Given the description of an element on the screen output the (x, y) to click on. 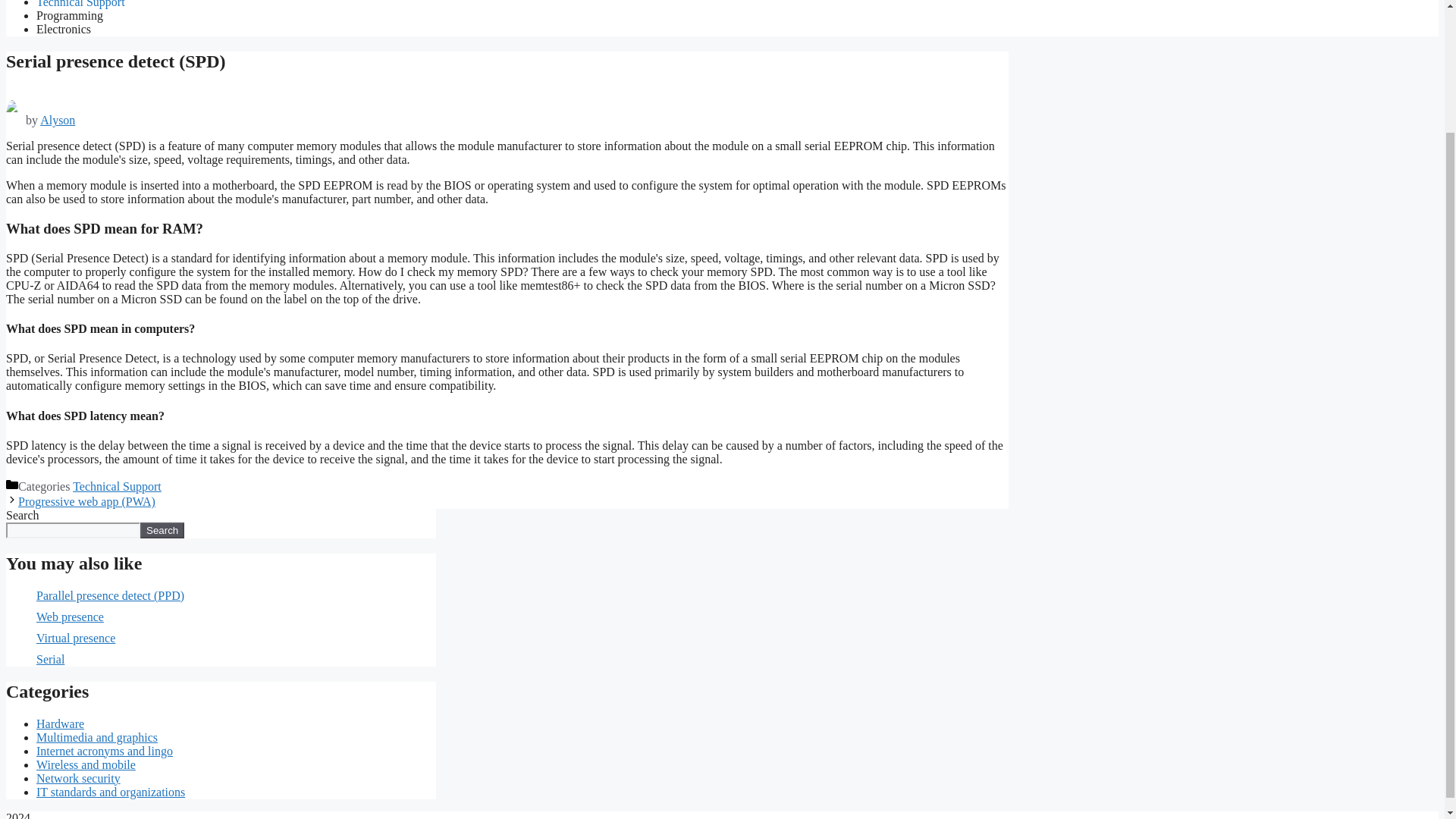
Technical Support (116, 486)
Hardware (60, 723)
View all posts by Alyson (57, 119)
Wireless and mobile (85, 764)
Network security (78, 778)
Multimedia and graphics (96, 737)
Technical Support (80, 4)
Search (161, 530)
Serial (50, 658)
Web presence (69, 616)
Alyson (57, 119)
Electronics (63, 29)
Virtual presence (75, 637)
Programming (69, 15)
Internet acronyms and lingo (104, 750)
